Given the description of an element on the screen output the (x, y) to click on. 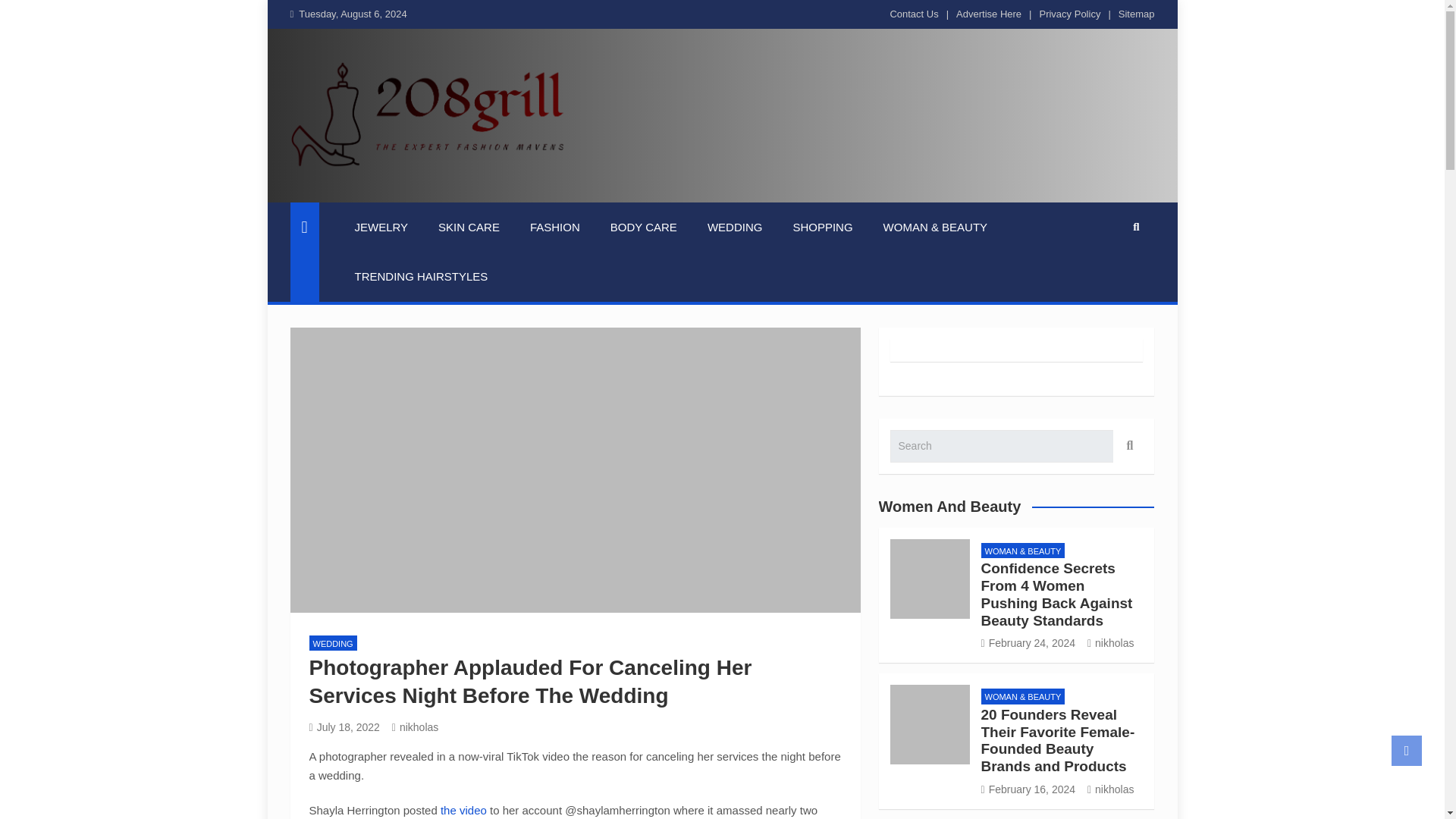
FASHION (555, 227)
the video (463, 809)
WEDDING (735, 227)
nikholas (415, 727)
WEDDING (332, 643)
BODY CARE (644, 227)
Contact Us (913, 13)
208grill (342, 191)
Go to Top (1406, 750)
